Given the description of an element on the screen output the (x, y) to click on. 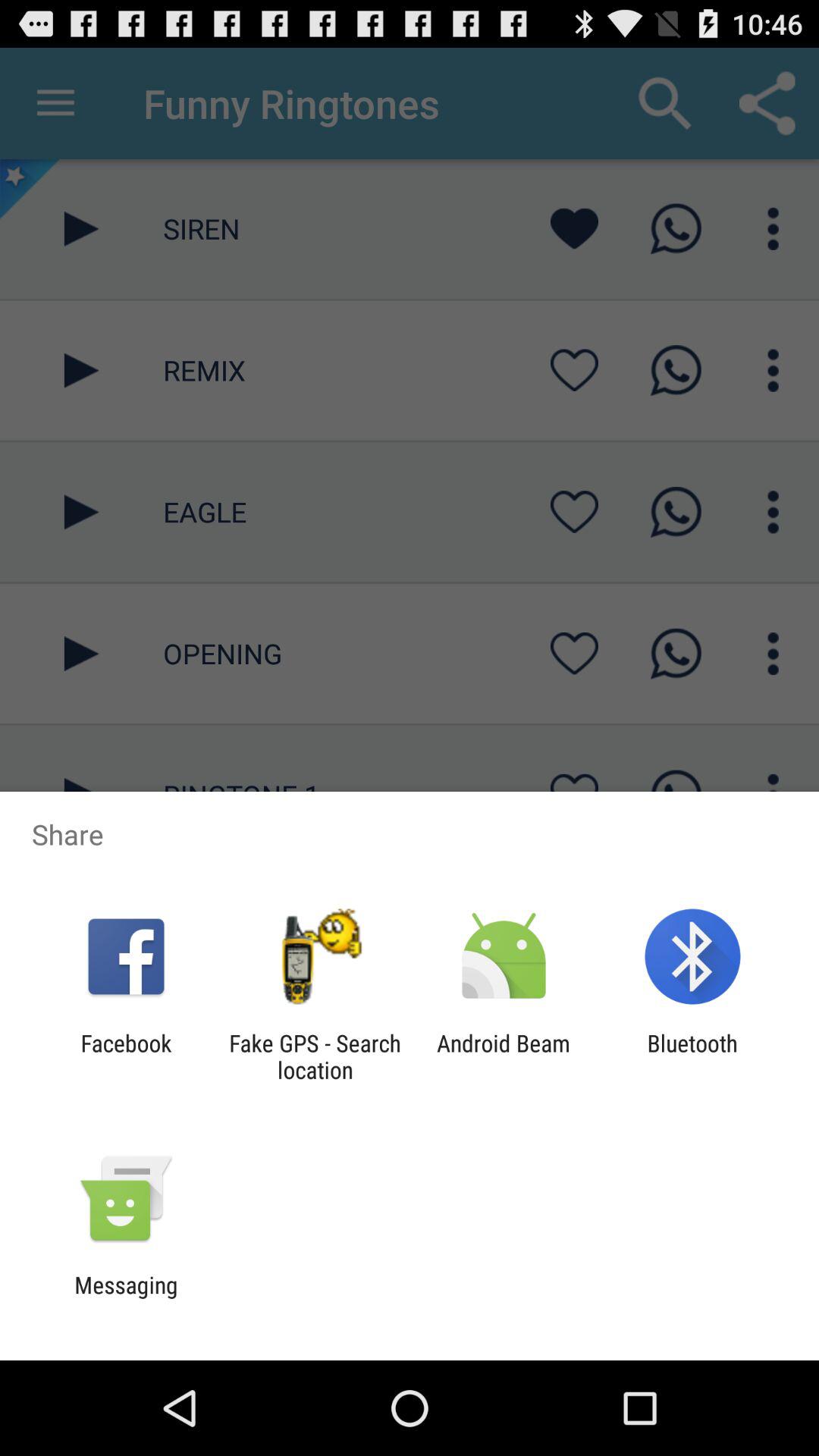
open the icon next to the fake gps search icon (125, 1056)
